Given the description of an element on the screen output the (x, y) to click on. 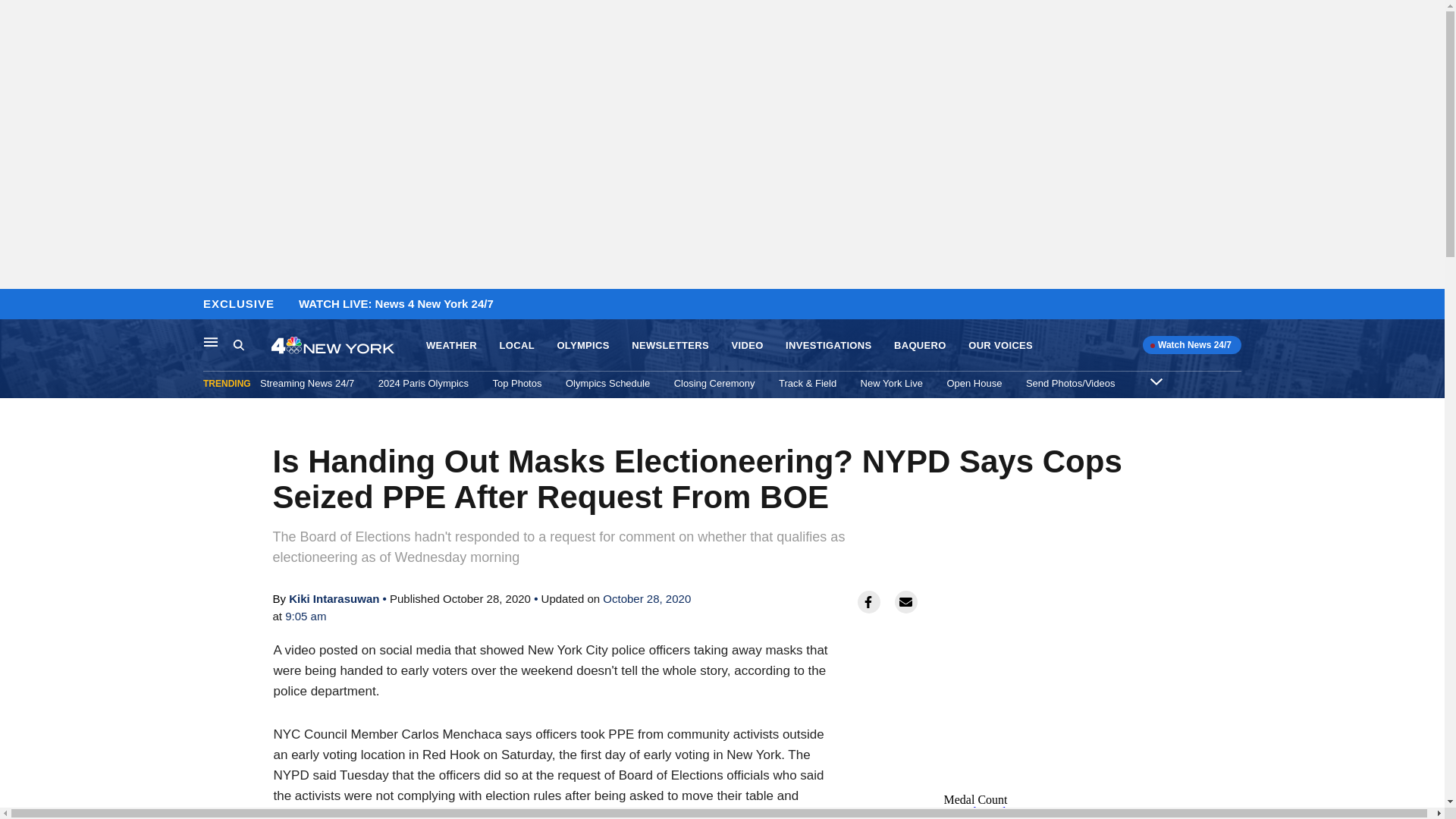
Kiki Intarasuwan (333, 598)
WEATHER (451, 345)
Skip to content (16, 304)
Expand (1155, 381)
NEWSLETTERS (670, 345)
Closing Ceremony (714, 383)
2024 Paris Olympics (423, 383)
OUR VOICES (1000, 345)
Olympics Schedule (607, 383)
VIDEO (746, 345)
